Given the description of an element on the screen output the (x, y) to click on. 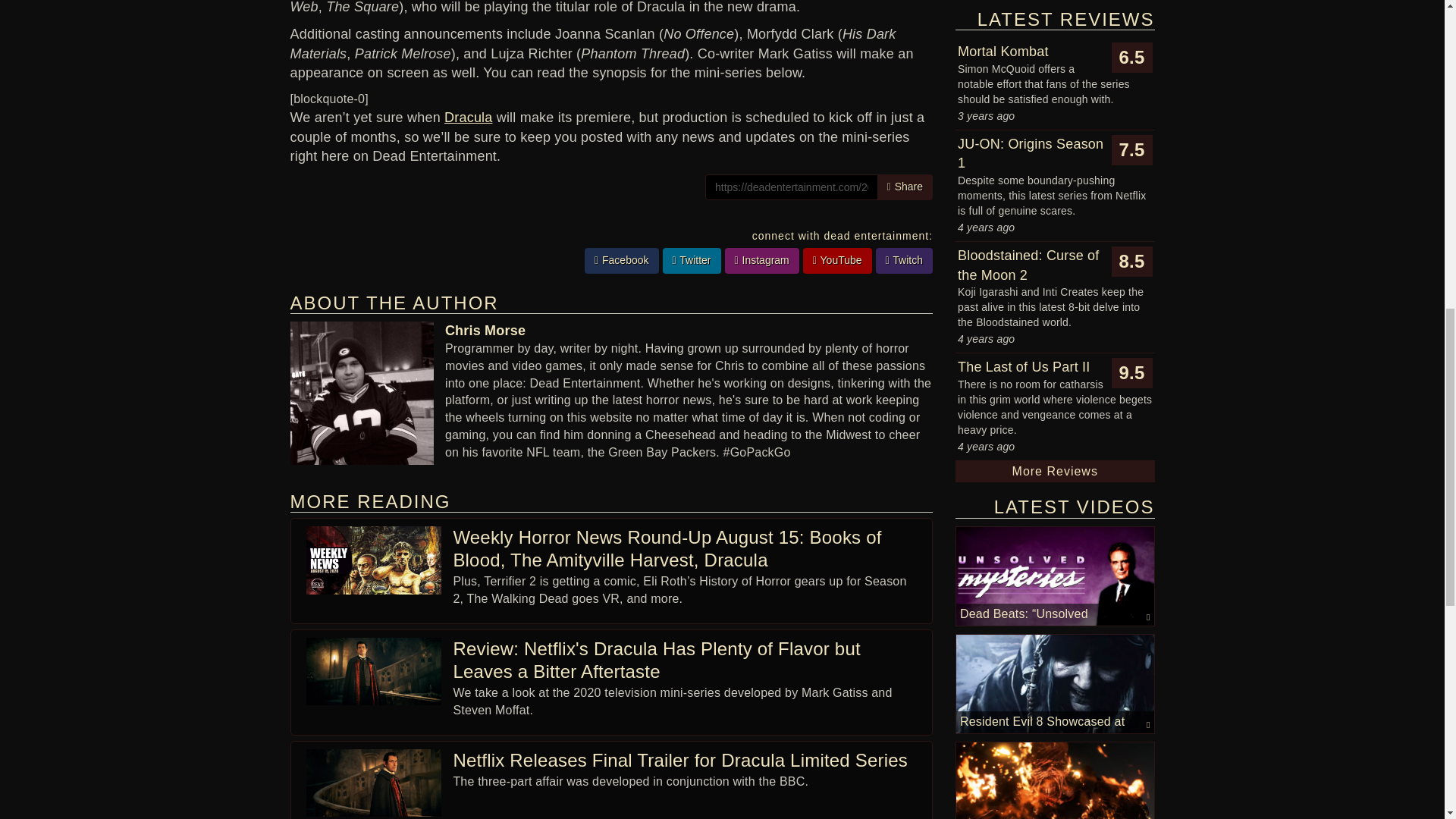
Instagram (762, 260)
Twitch (904, 260)
Twitter (691, 260)
Chris Morse (485, 330)
Facebook (622, 260)
Instagram (762, 260)
YouTube (837, 260)
Facebook (622, 260)
Share (905, 186)
